Given the description of an element on the screen output the (x, y) to click on. 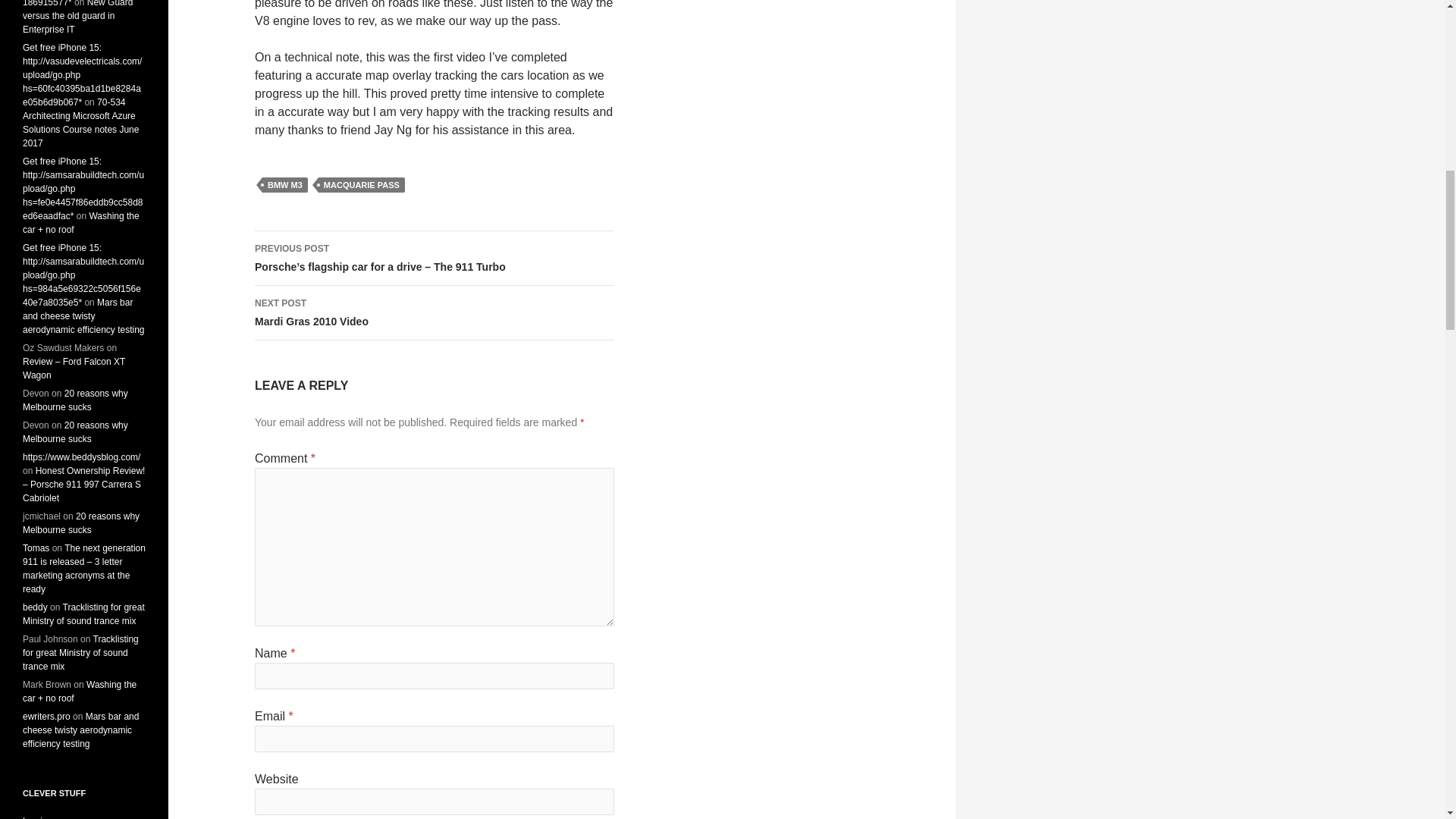
MACQUARIE PASS (361, 184)
BMW M3 (434, 312)
